Given the description of an element on the screen output the (x, y) to click on. 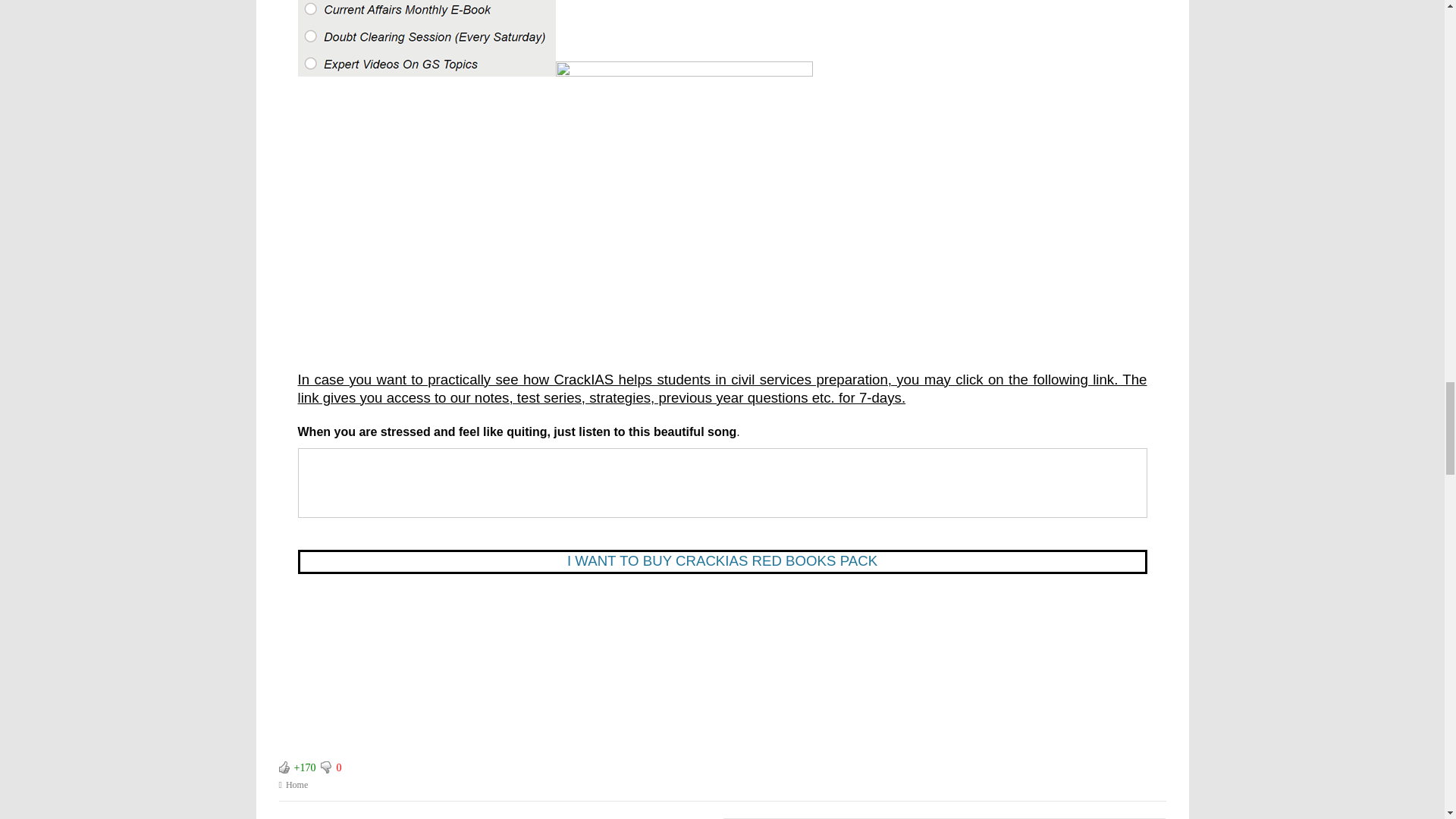
Home (296, 784)
I WANT TO BUY CRACKIAS RED BOOKS PACK (722, 561)
